Given the description of an element on the screen output the (x, y) to click on. 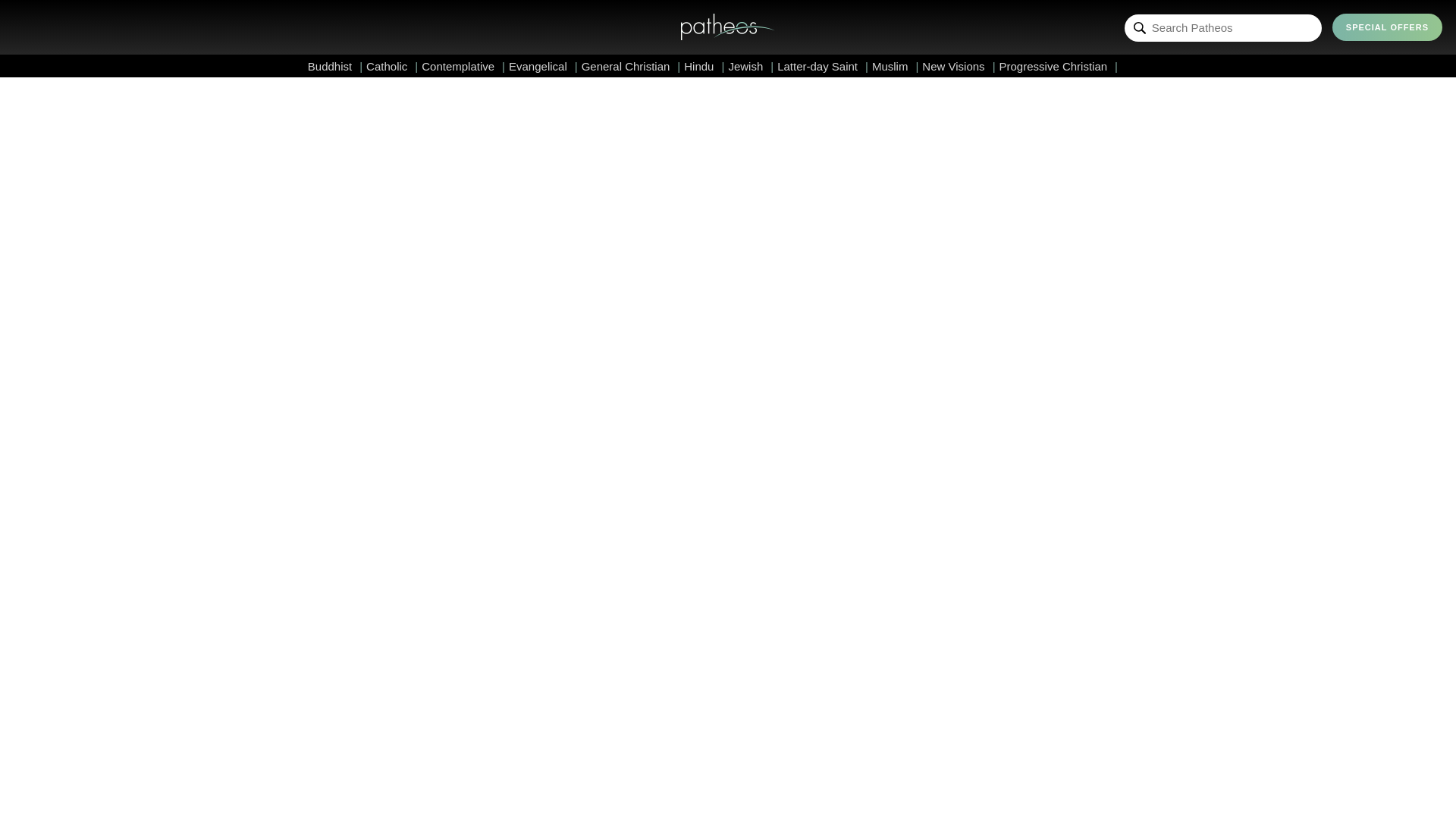
Jewish (750, 65)
Latter-day Saint (822, 65)
Catholic (391, 65)
Contemplative (463, 65)
SPECIAL OFFERS (1387, 26)
Muslim (895, 65)
Buddhist (334, 65)
Hindu (703, 65)
Progressive Christian (1058, 65)
New Visions (957, 65)
